Given the description of an element on the screen output the (x, y) to click on. 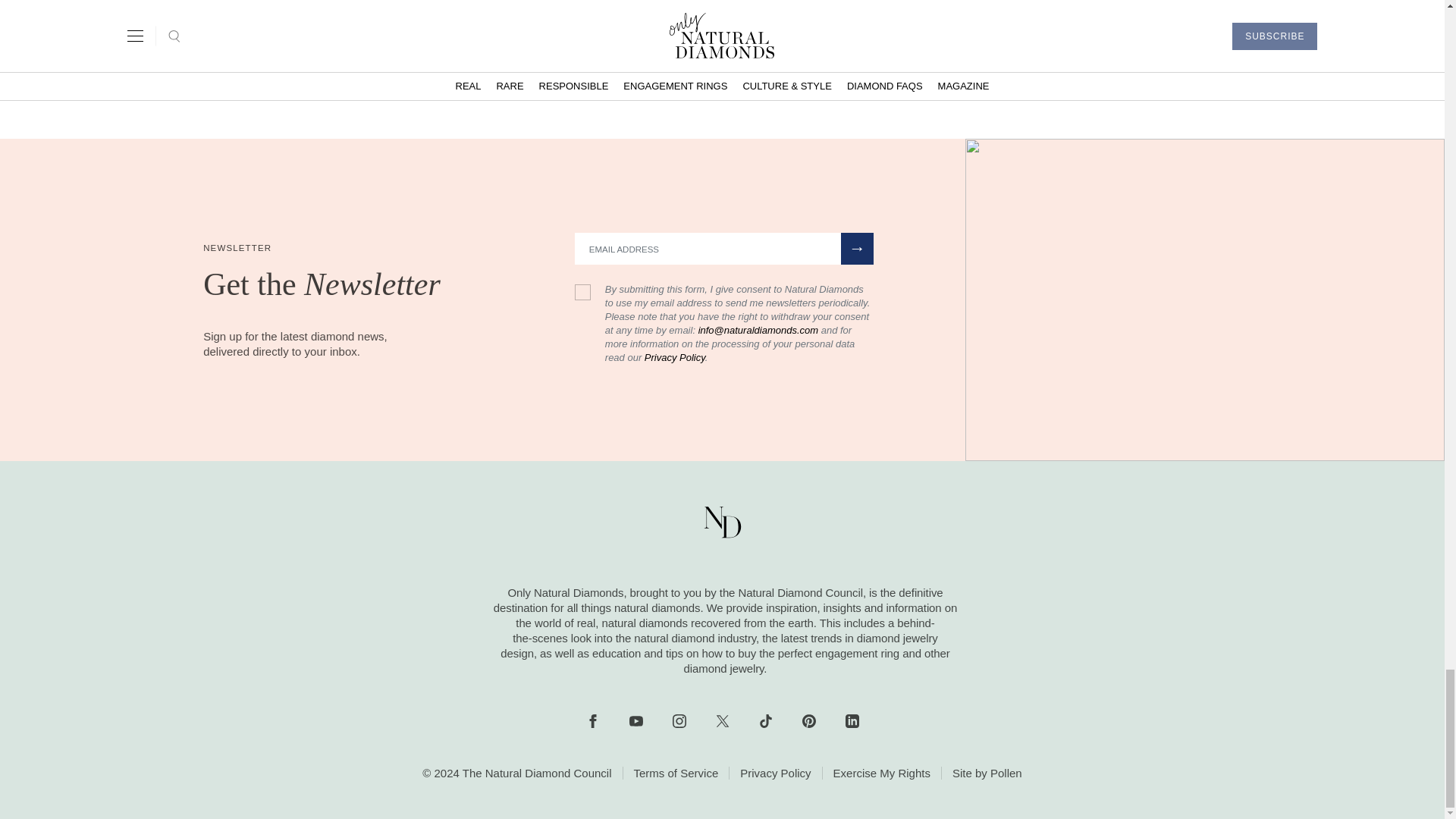
Email this page (798, 72)
Share on Facebook (644, 72)
Tweet This (696, 72)
Clipboard (747, 72)
